Given the description of an element on the screen output the (x, y) to click on. 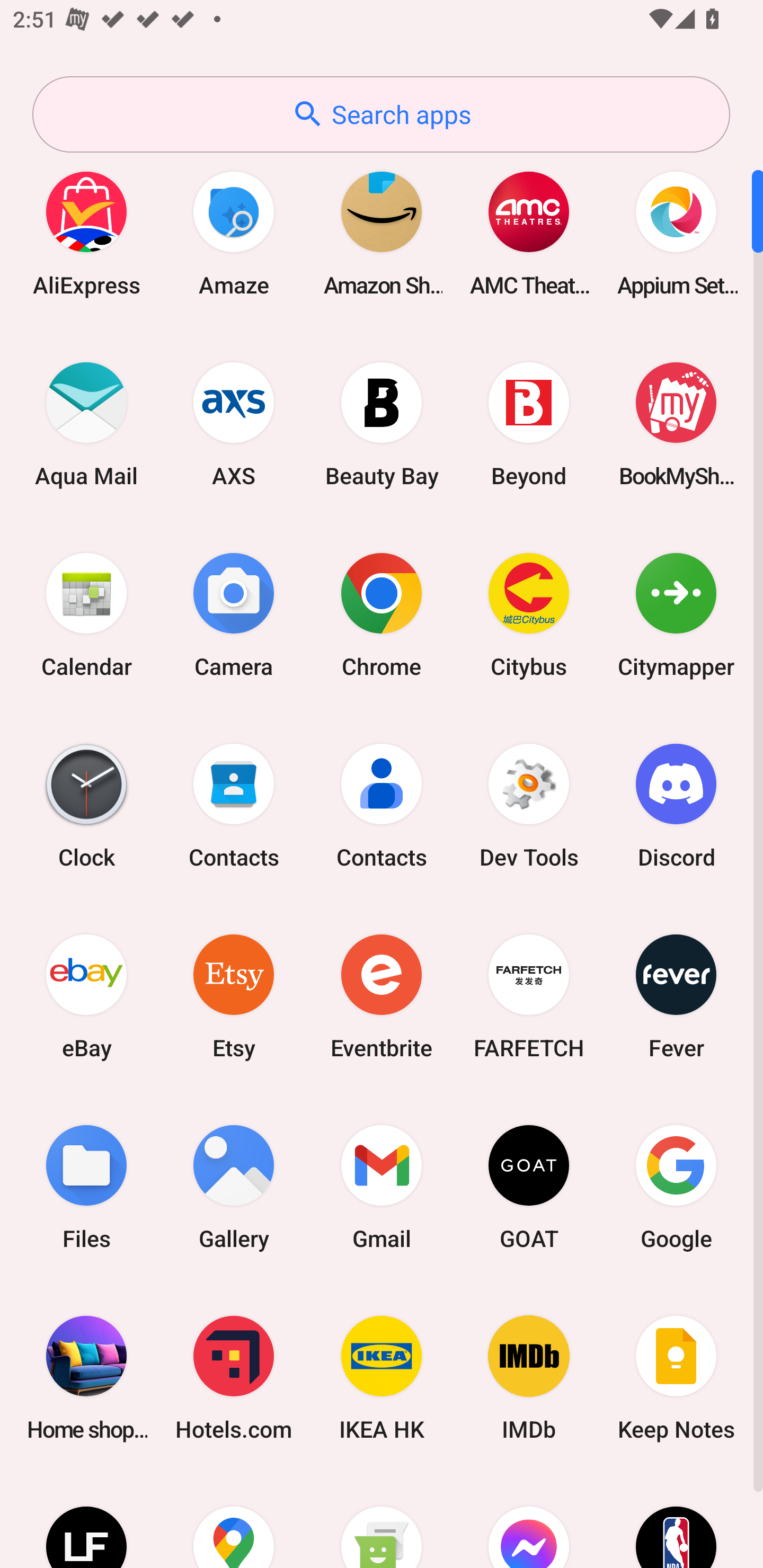
Citymapper (676, 614)
